Given the description of an element on the screen output the (x, y) to click on. 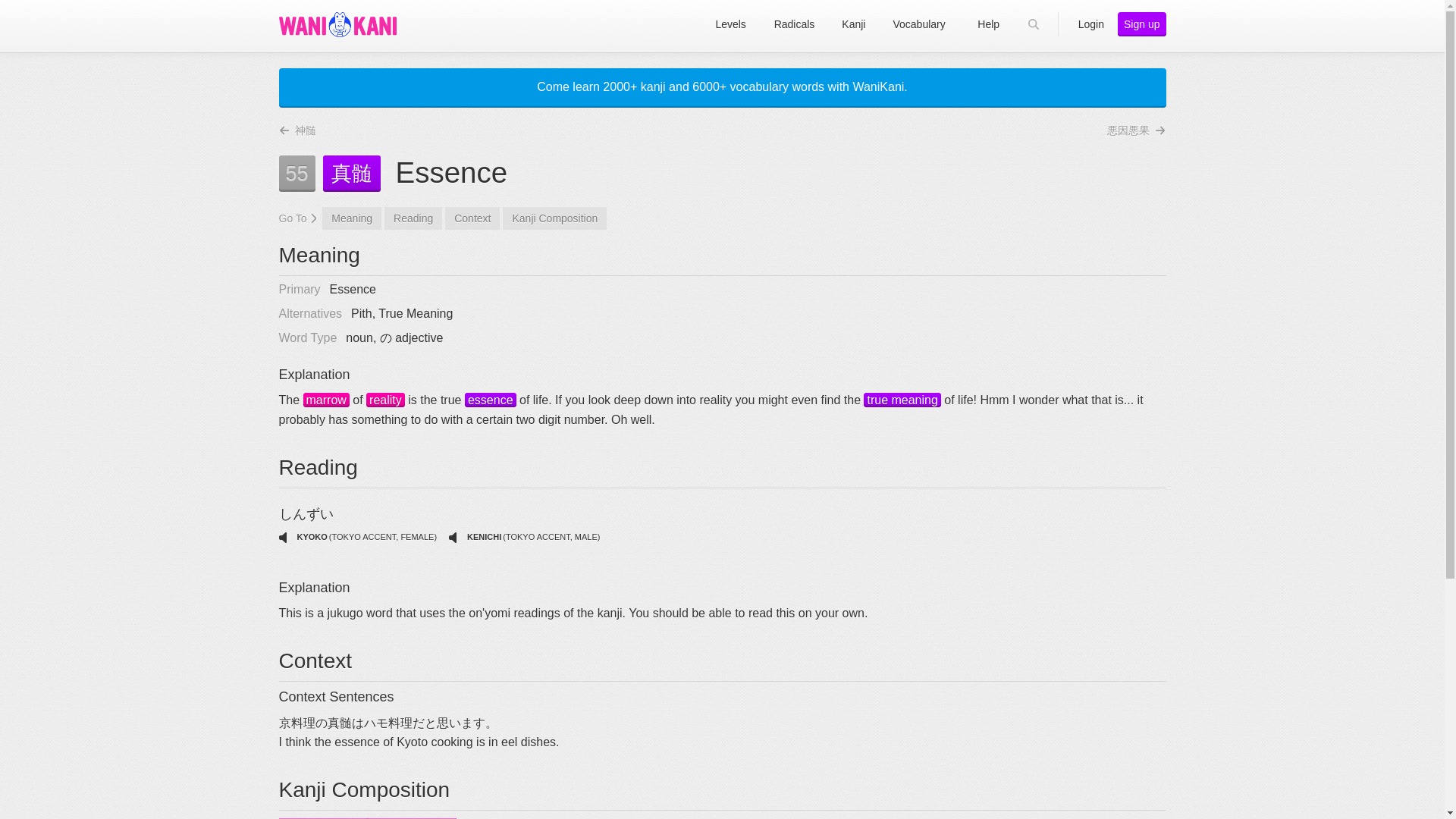
WaniKani (337, 24)
Kanji (385, 400)
Kanji (325, 400)
Vocabulary (490, 400)
Levels (730, 24)
Vocabulary (901, 400)
